Given the description of an element on the screen output the (x, y) to click on. 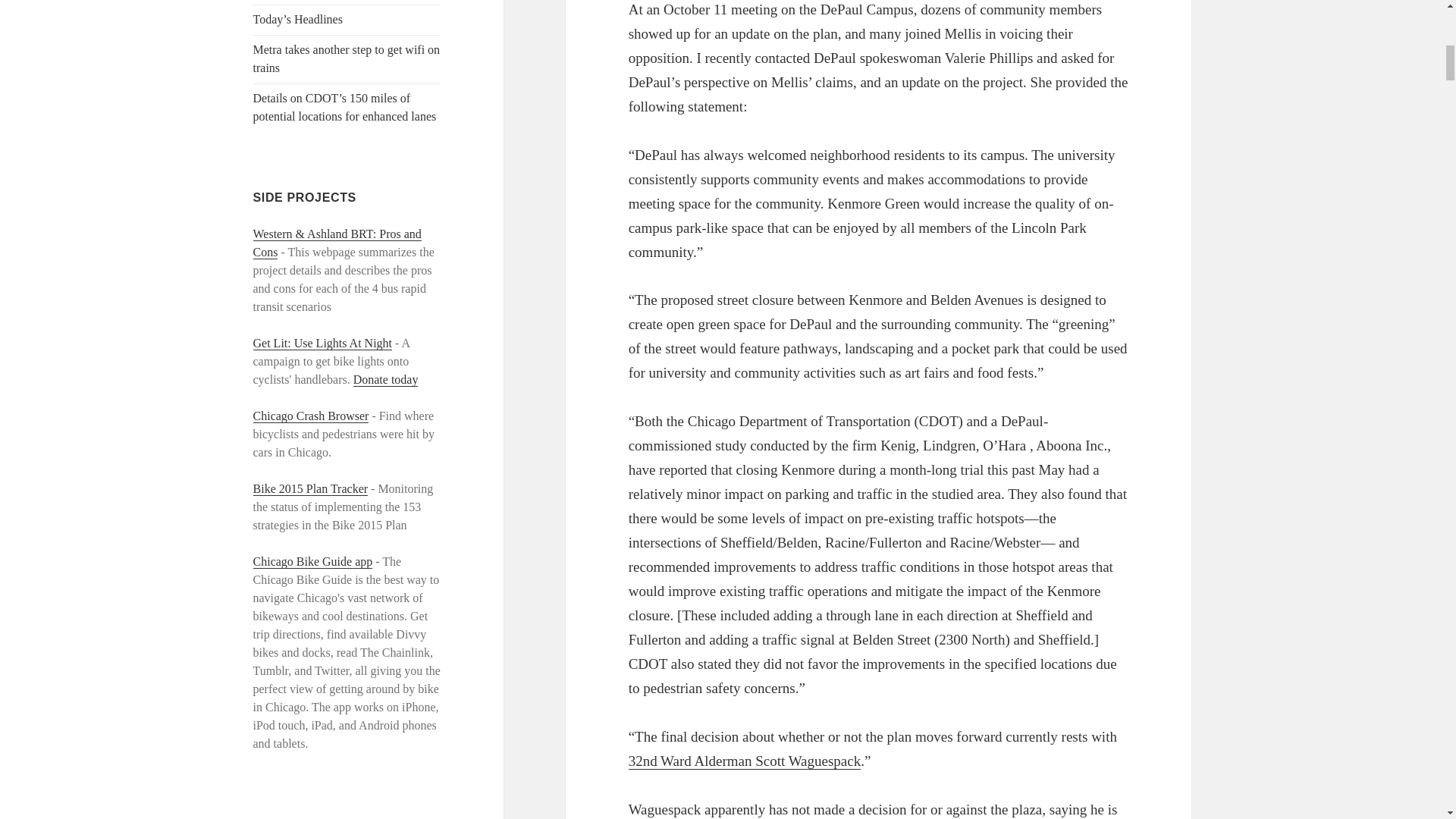
Donate today (386, 379)
Chicago Bike Guide app (312, 561)
Metra takes another step to get wifi on trains (347, 58)
32nd Ward Alderman Scott Waguespack (744, 760)
Bike 2015 Plan Tracker (310, 489)
Get Lit: Use Lights At Night (323, 343)
Chicago Crash Browser (311, 416)
